Given the description of an element on the screen output the (x, y) to click on. 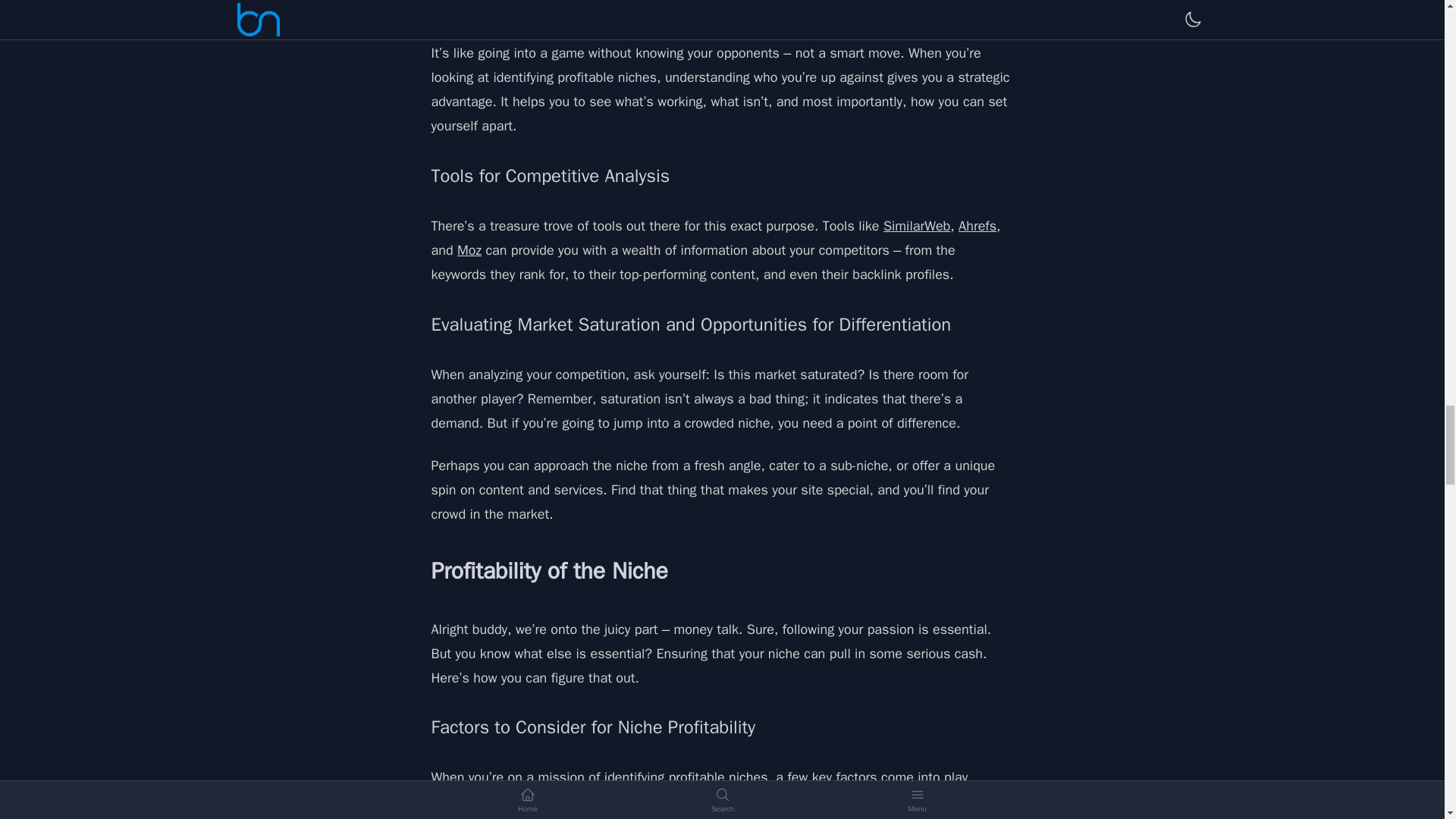
Ahrefs (976, 225)
Moz (469, 249)
SimilarWeb (916, 225)
Moz (469, 249)
SimilarWeb (916, 225)
Ahrefs (976, 225)
